Given the description of an element on the screen output the (x, y) to click on. 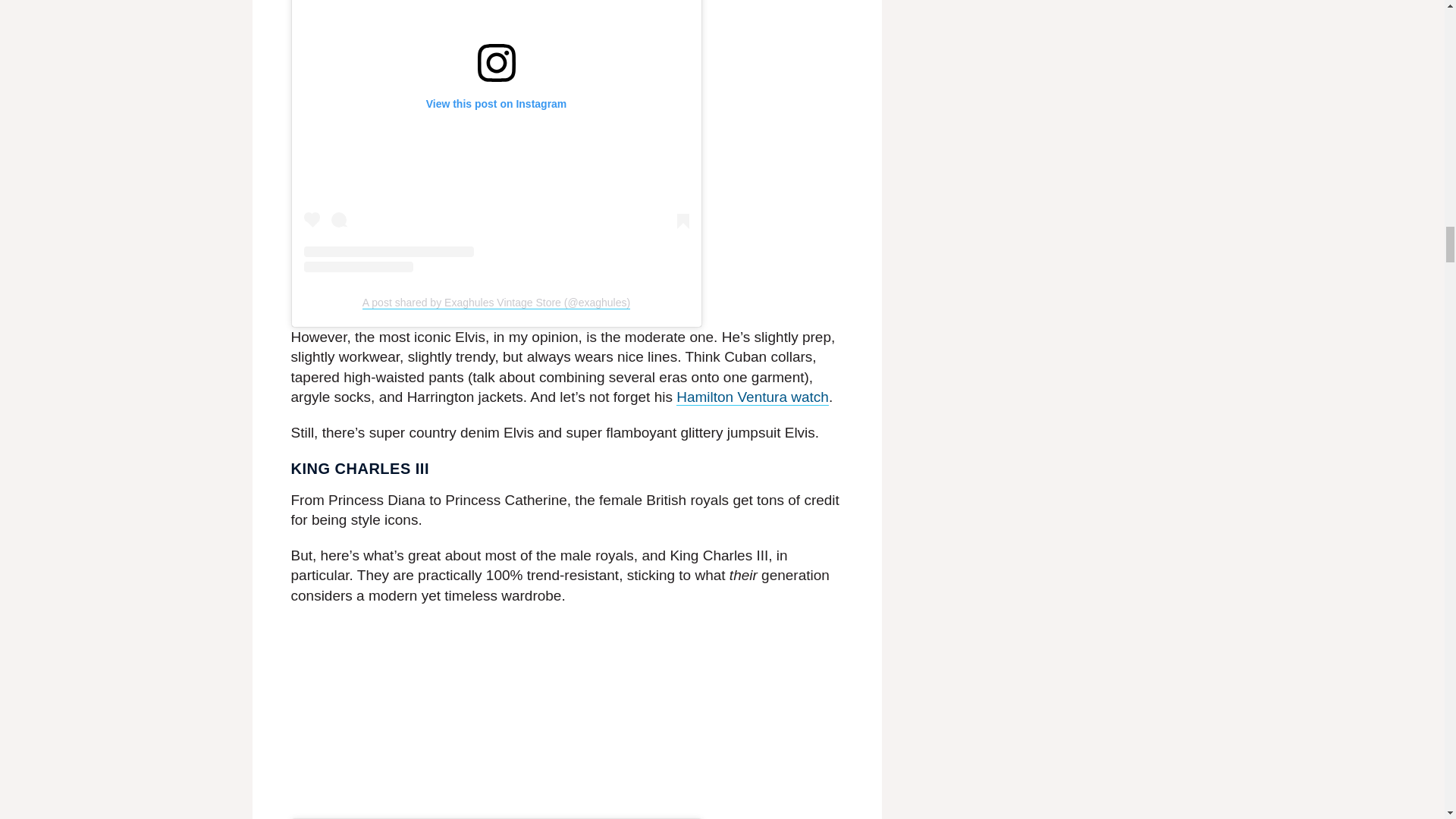
View this post on Instagram (495, 135)
Hamilton Ventura watch (752, 397)
